Given the description of an element on the screen output the (x, y) to click on. 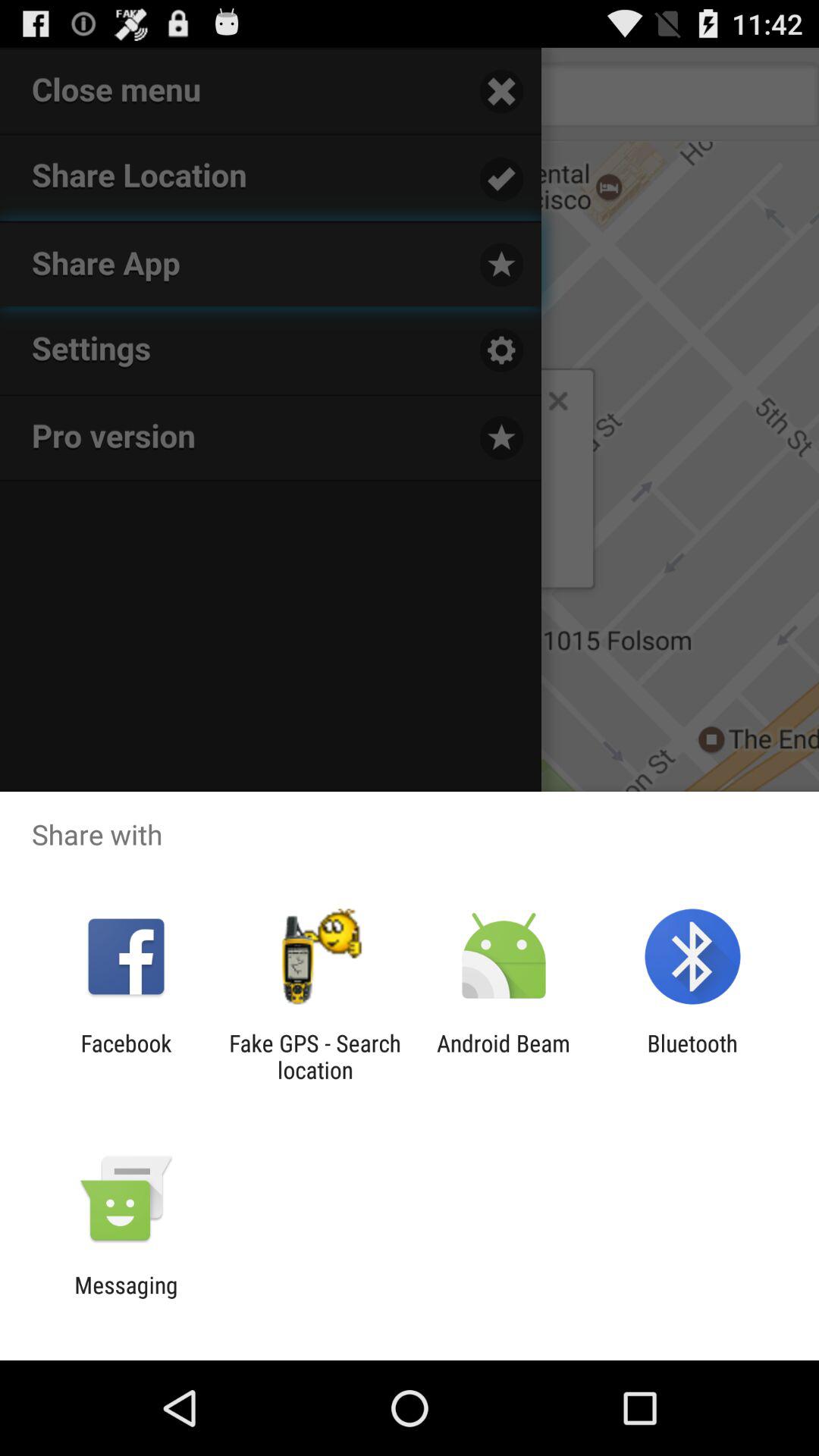
choose the icon next to android beam icon (314, 1056)
